Given the description of an element on the screen output the (x, y) to click on. 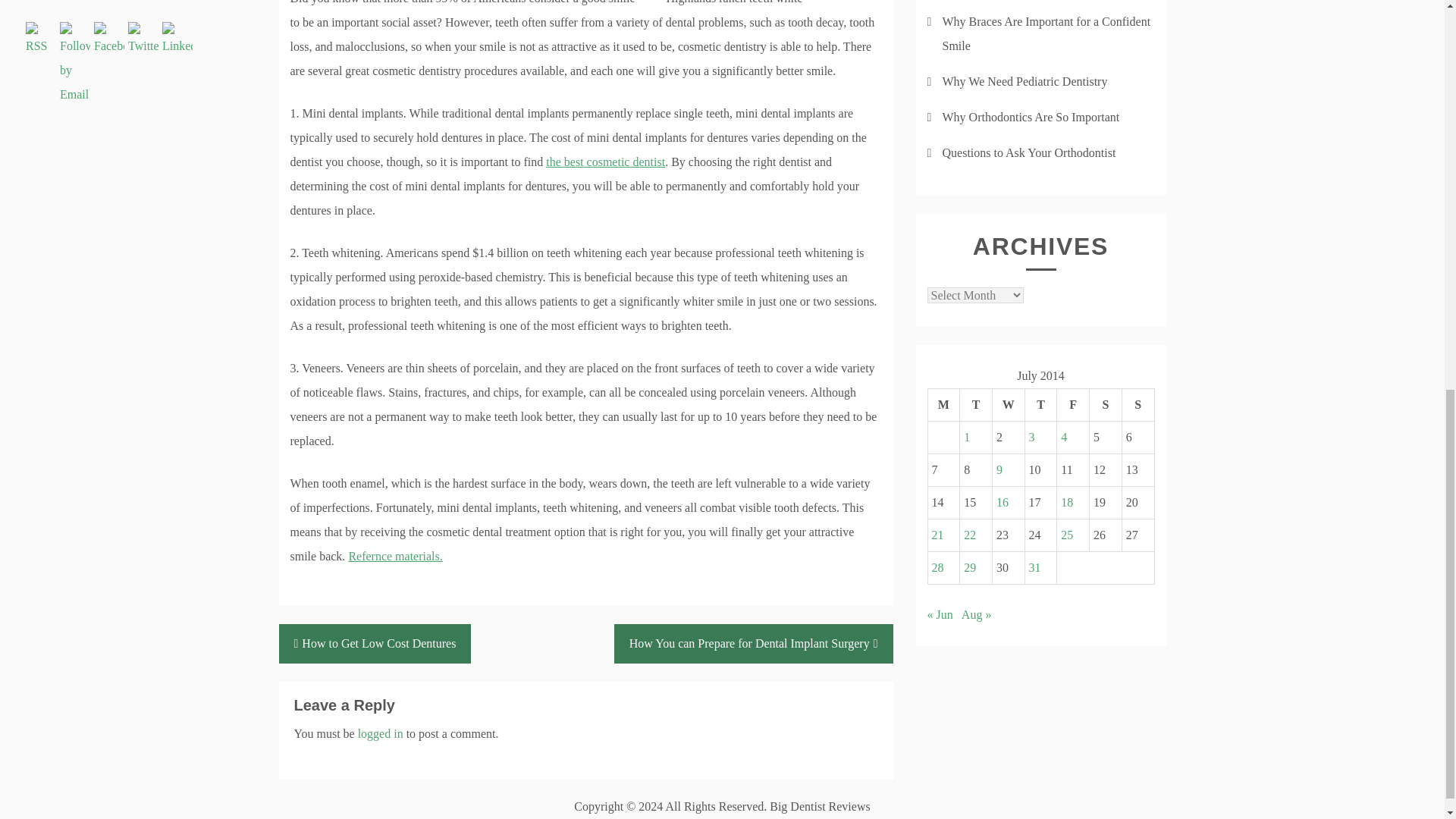
25 (1067, 534)
Tuesday (975, 405)
the best cosmetic dentist (605, 161)
28 (937, 567)
31 (1035, 567)
Thursday (1041, 405)
Sunday (1137, 405)
22 (969, 534)
29 (969, 567)
How to Get Low Cost Dentures (375, 643)
18 (1067, 502)
21 (937, 534)
logged in (380, 733)
Friday (1073, 405)
More things online (394, 555)
